Given the description of an element on the screen output the (x, y) to click on. 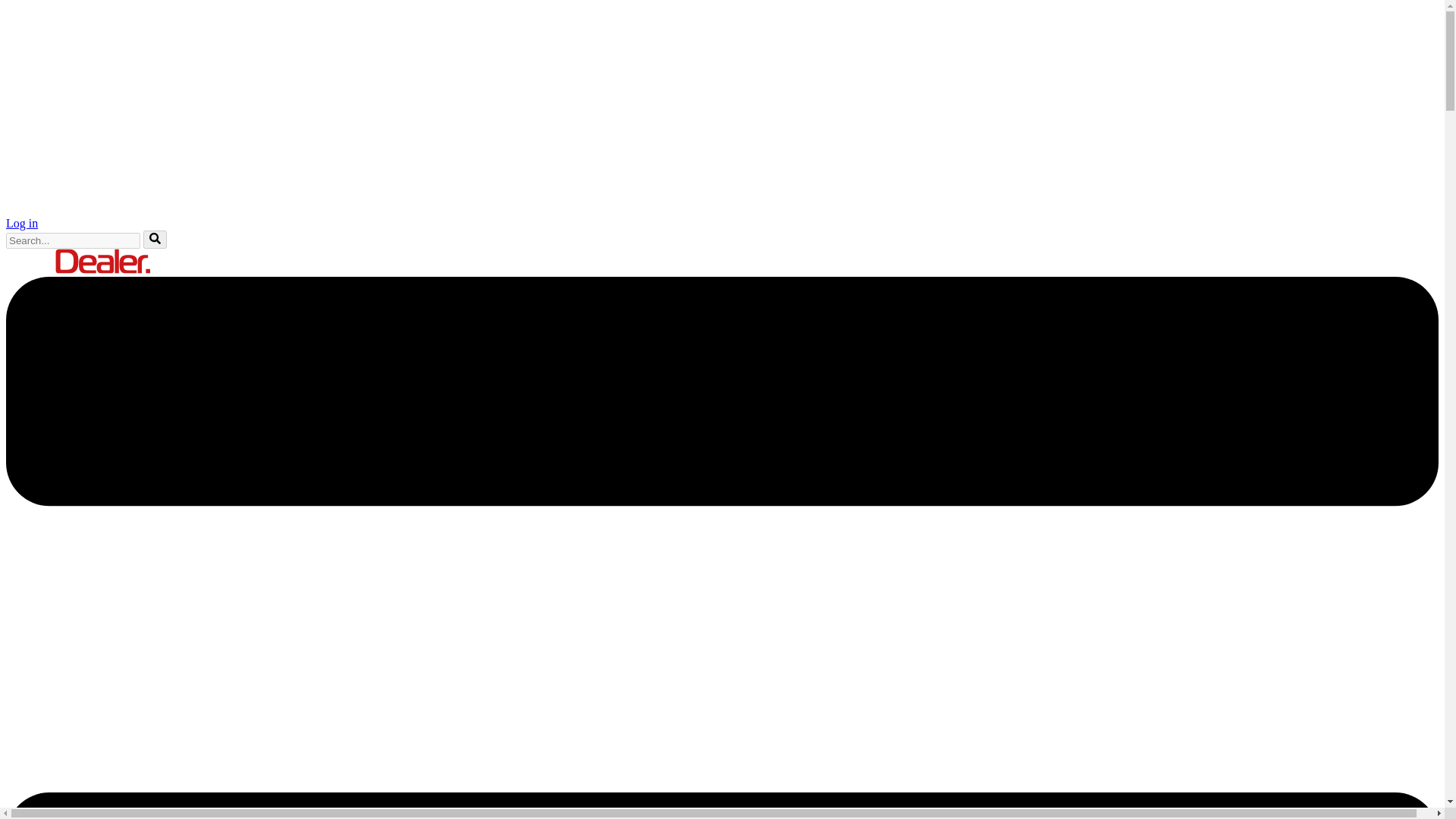
Log in (21, 223)
